Given the description of an element on the screen output the (x, y) to click on. 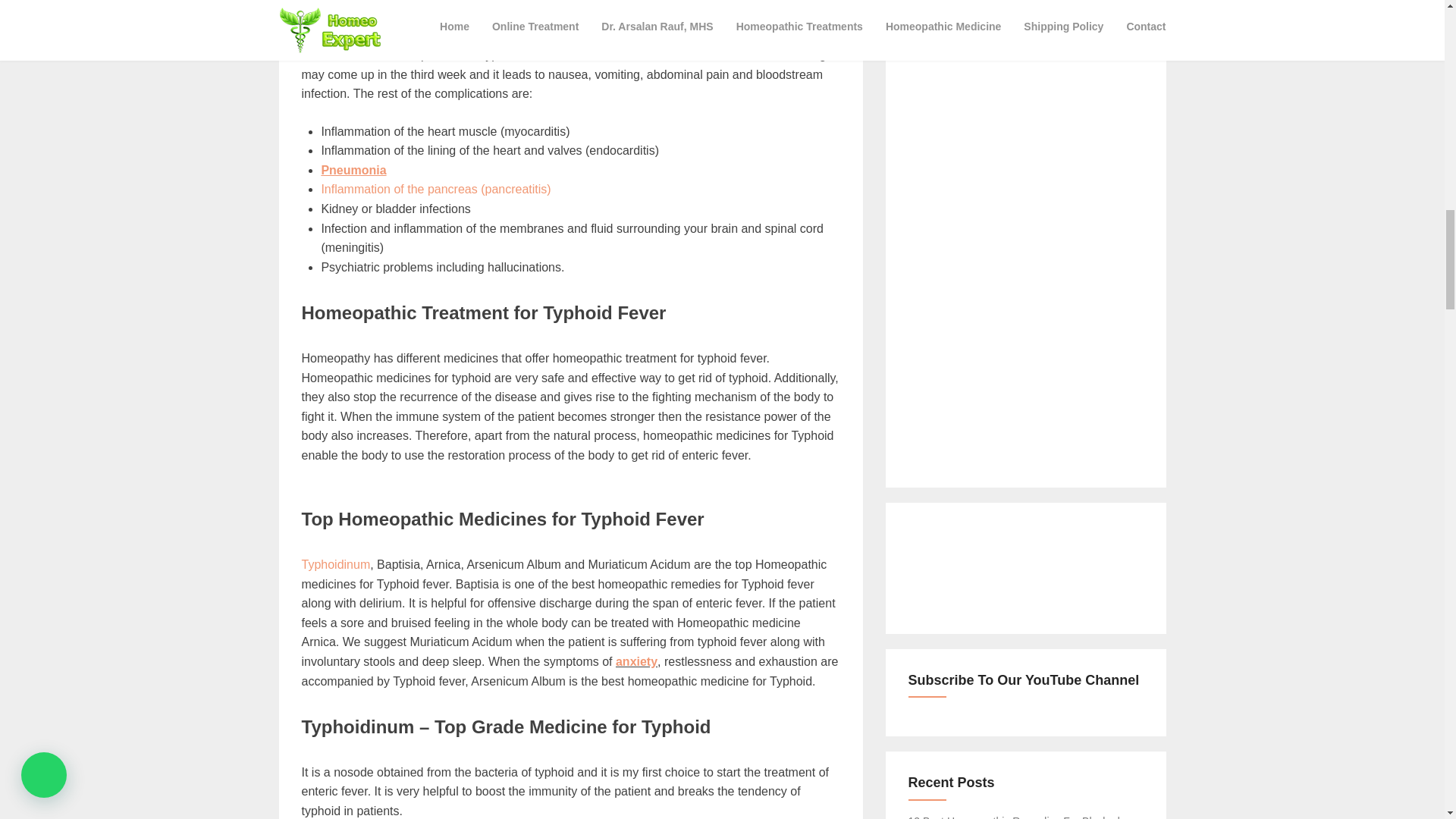
Typhoidinum (336, 563)
Pneumonia (352, 169)
anxiety (636, 661)
